Given the description of an element on the screen output the (x, y) to click on. 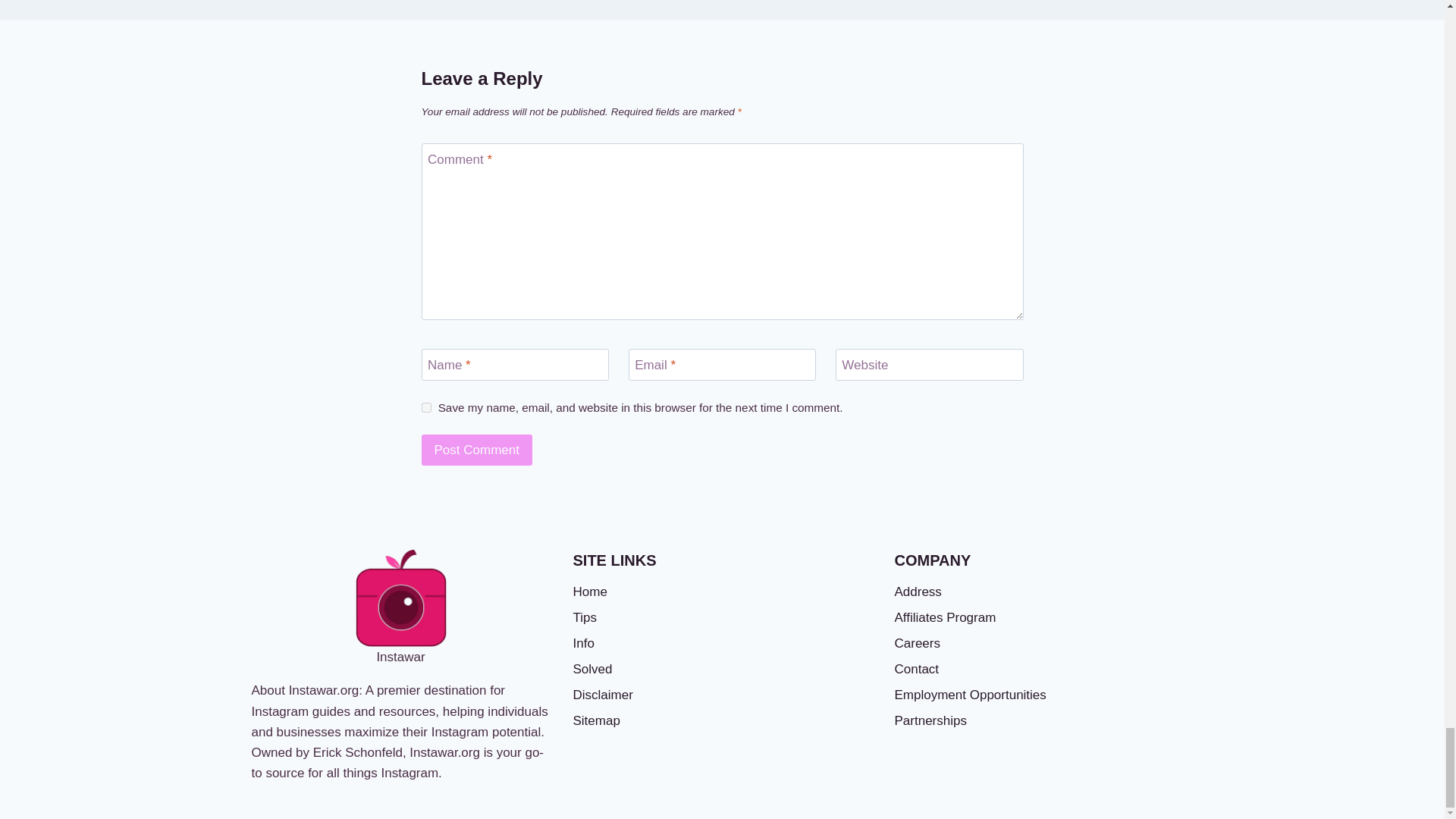
Post Comment (477, 450)
yes (426, 407)
